Given the description of an element on the screen output the (x, y) to click on. 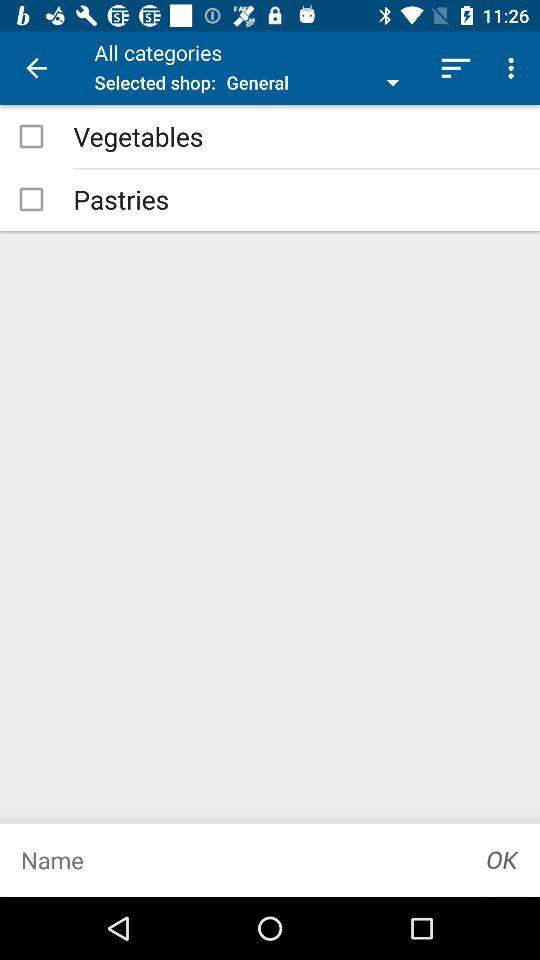
choose the item to the right of the general icon (455, 67)
